Given the description of an element on the screen output the (x, y) to click on. 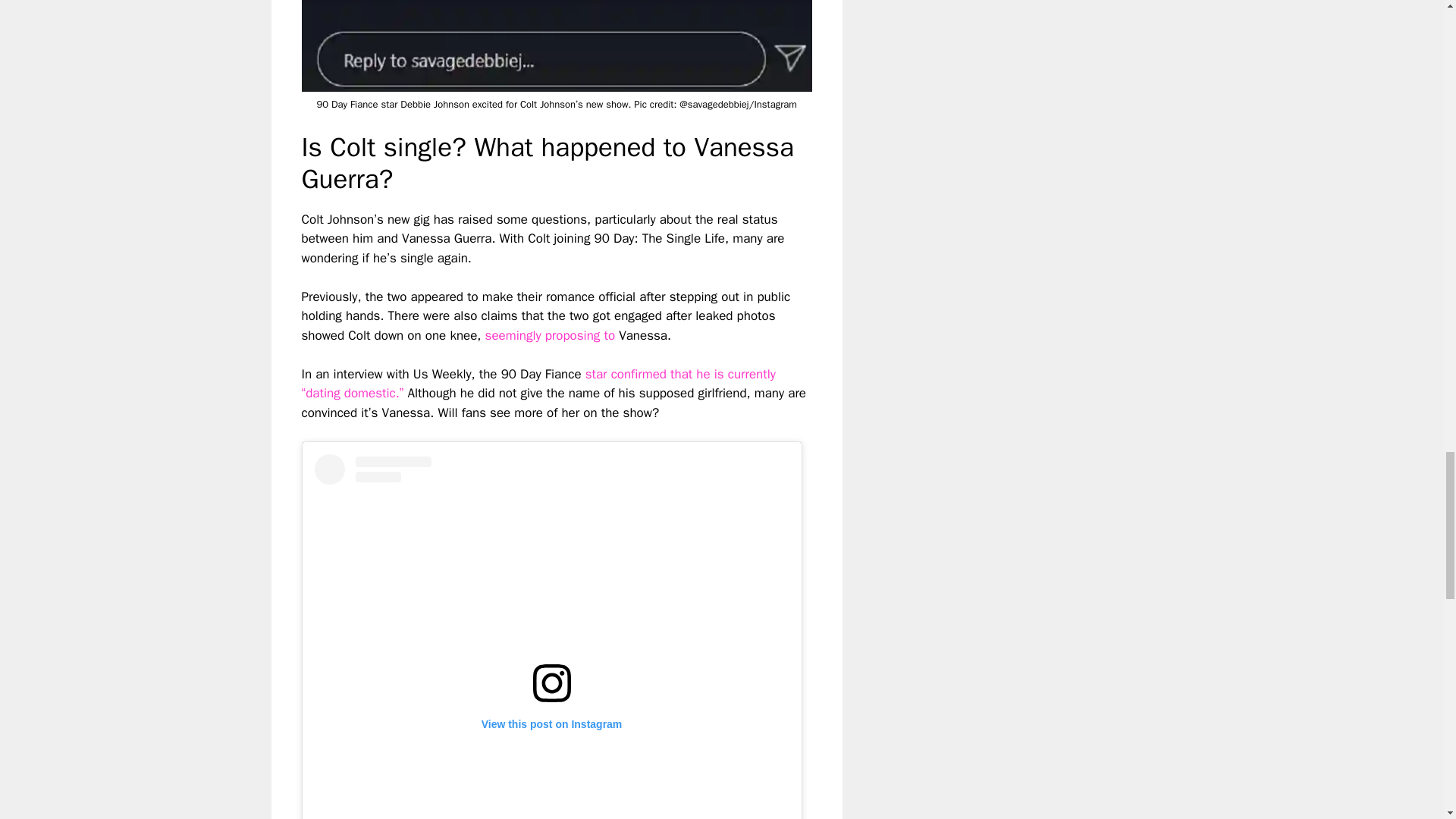
90 Day Fiance: Debbie Johnson - Colt Johnson (556, 45)
seemingly proposing to (549, 335)
